Given the description of an element on the screen output the (x, y) to click on. 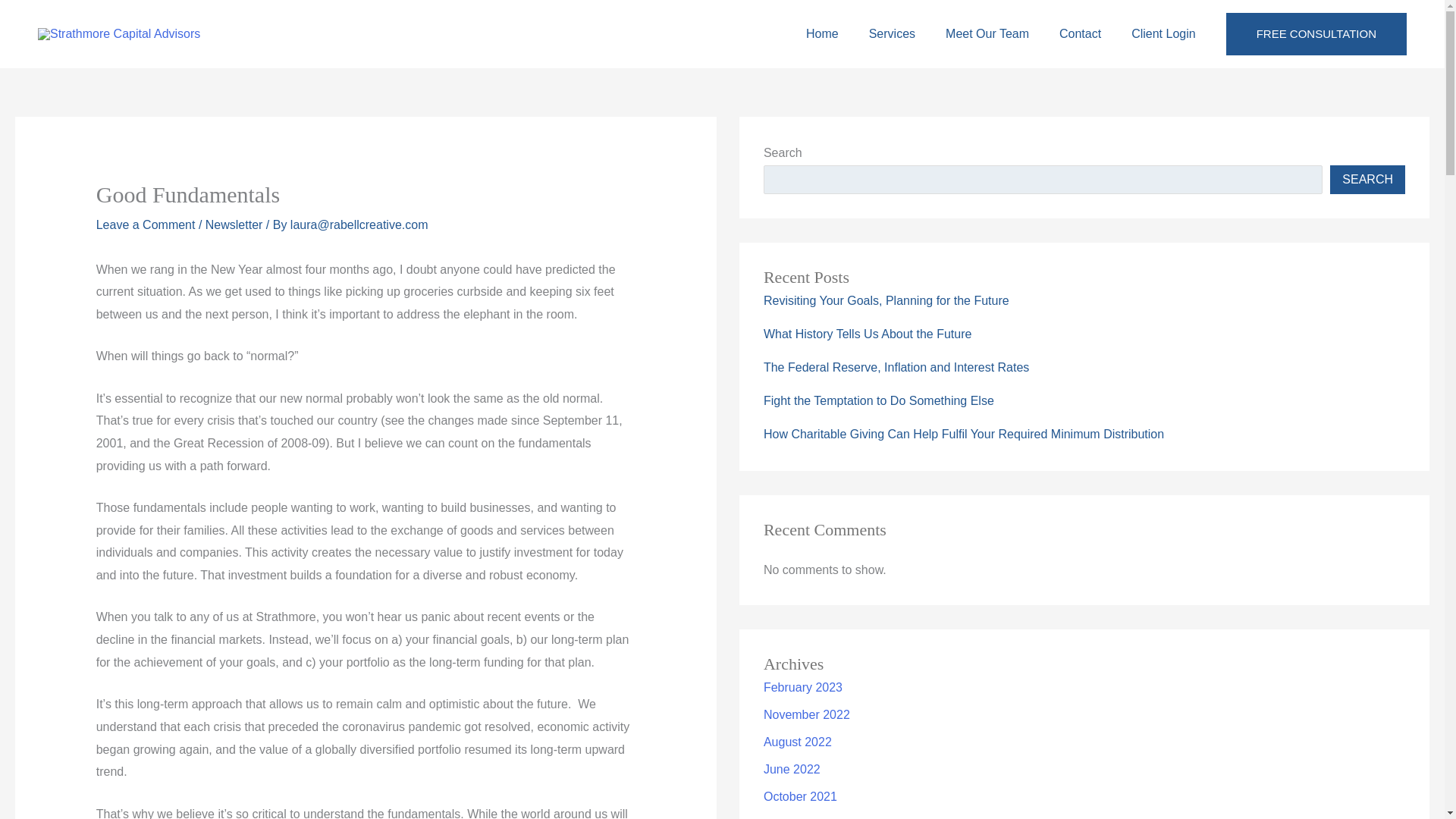
Client Login (1163, 33)
FREE CONSULTATION (1315, 34)
The Federal Reserve, Inflation and Interest Rates (895, 367)
Services (891, 33)
Contact (1079, 33)
What History Tells Us About the Future (866, 333)
Meet Our Team (986, 33)
Home (821, 33)
November 2022 (806, 714)
February 2023 (802, 686)
